Given the description of an element on the screen output the (x, y) to click on. 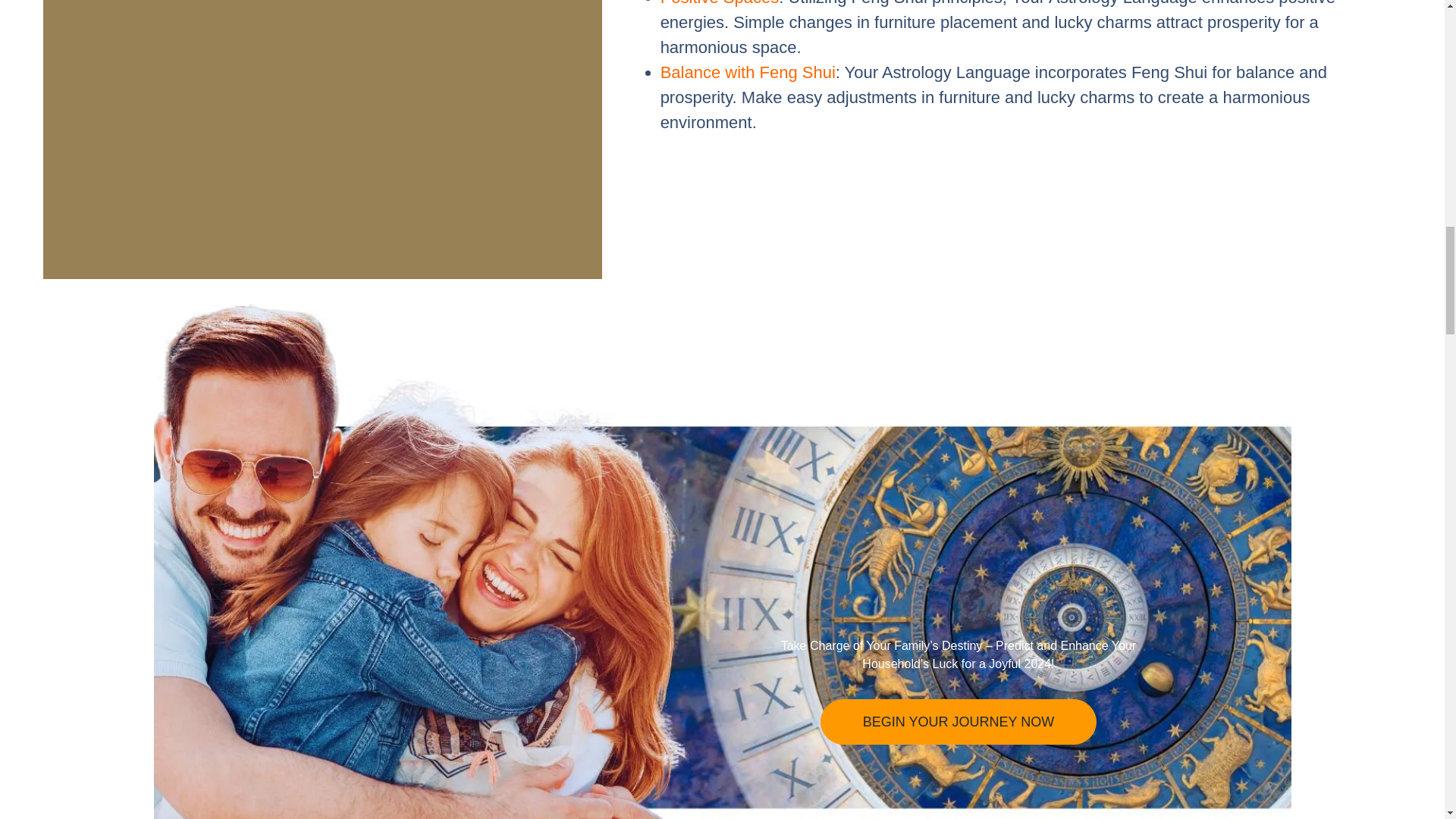
BEGIN YOUR JOURNEY NOW (958, 721)
